Given the description of an element on the screen output the (x, y) to click on. 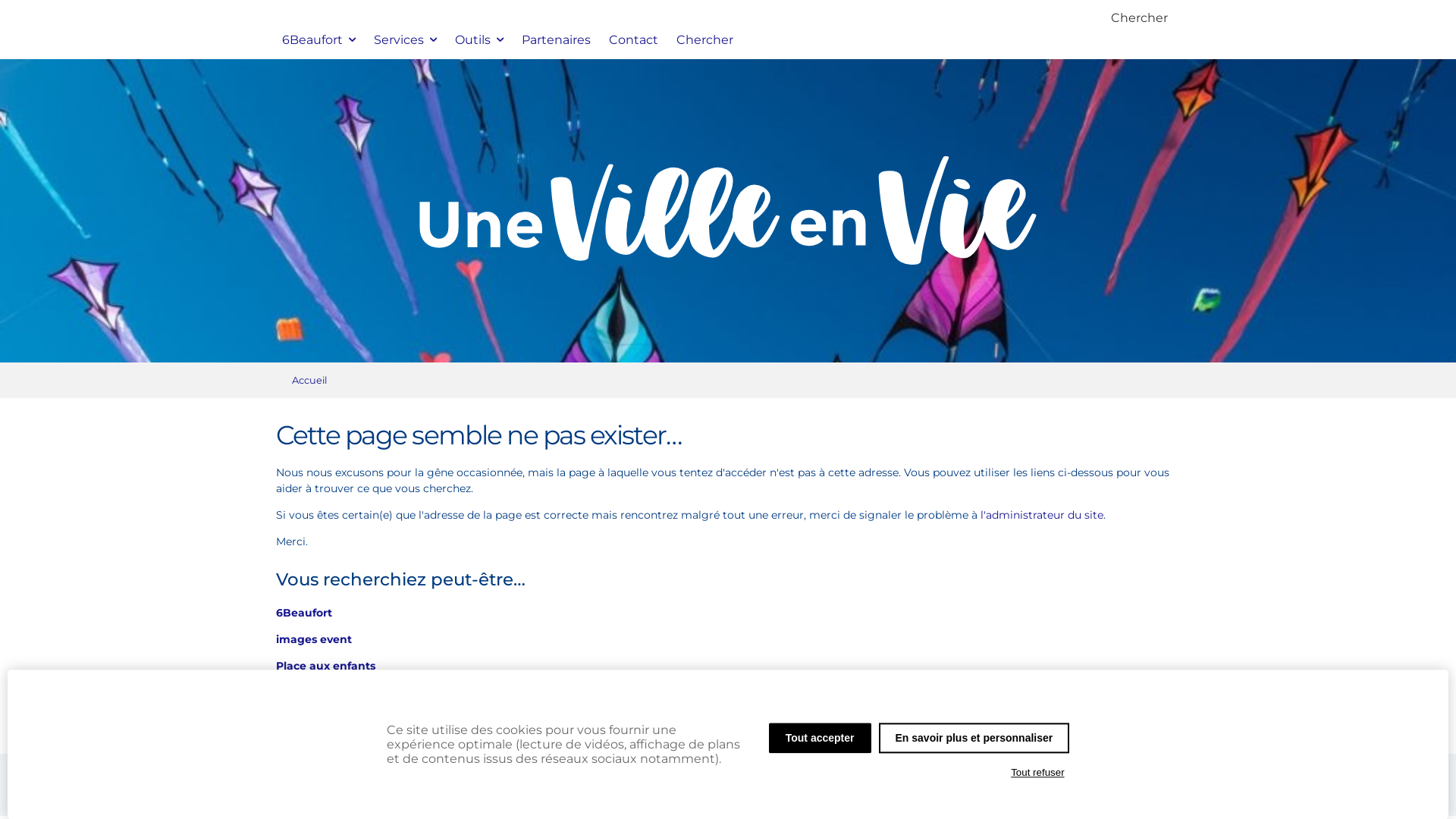
Accueil Element type: text (308, 379)
Contact Element type: text (633, 39)
En savoir plus et personnaliser Element type: text (973, 737)
Gestion des cookies Element type: text (656, 790)
Services Element type: text (404, 39)
IMIO Element type: text (851, 790)
Outils Element type: text (478, 39)
Partenaires Element type: text (555, 39)
licence libre Element type: text (909, 790)
Tout refuser Element type: text (1038, 772)
images event Element type: text (313, 639)
6Beaufort Element type: text (304, 612)
Chercher Element type: text (704, 39)
Tout accepter Element type: text (819, 737)
Place aux enfants Element type: text (325, 665)
Chercher Element type: text (1138, 17)
l'administrateur du site Element type: text (1040, 514)
6Beaufort Element type: text (318, 39)
